Given the description of an element on the screen output the (x, y) to click on. 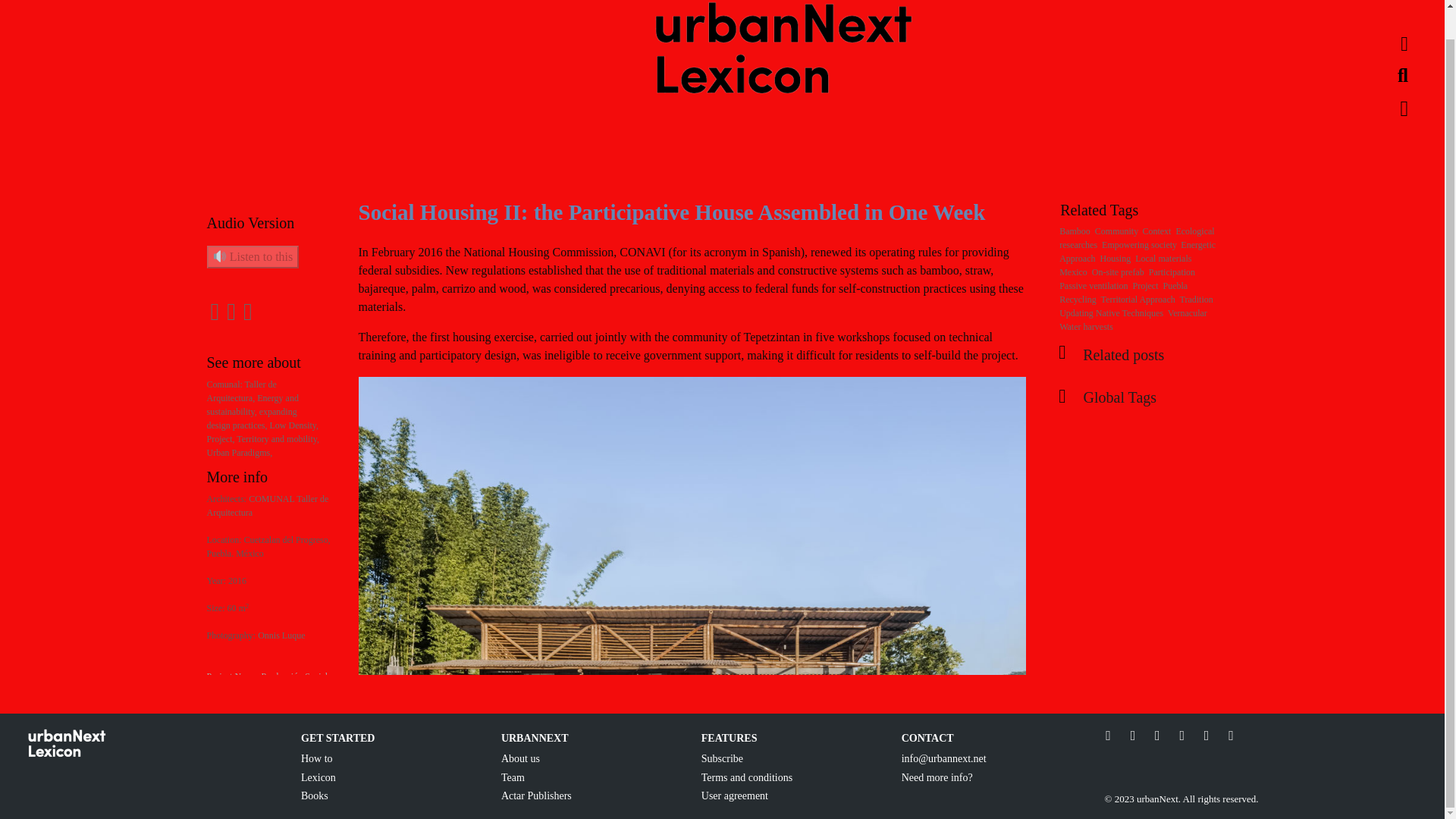
Urban Paradigms (239, 452)
Territory and mobility (276, 439)
Energy and sustainability (252, 404)
Community (1116, 231)
expanding design practices (251, 418)
COMUNAL Taller de Arquitectura (267, 505)
Onnis Luque (280, 634)
Listen to this (252, 256)
Low Density (293, 425)
Comunal: Taller de Arquitectura (241, 391)
Context (1155, 231)
Bamboo (1074, 231)
Project (220, 439)
